Given the description of an element on the screen output the (x, y) to click on. 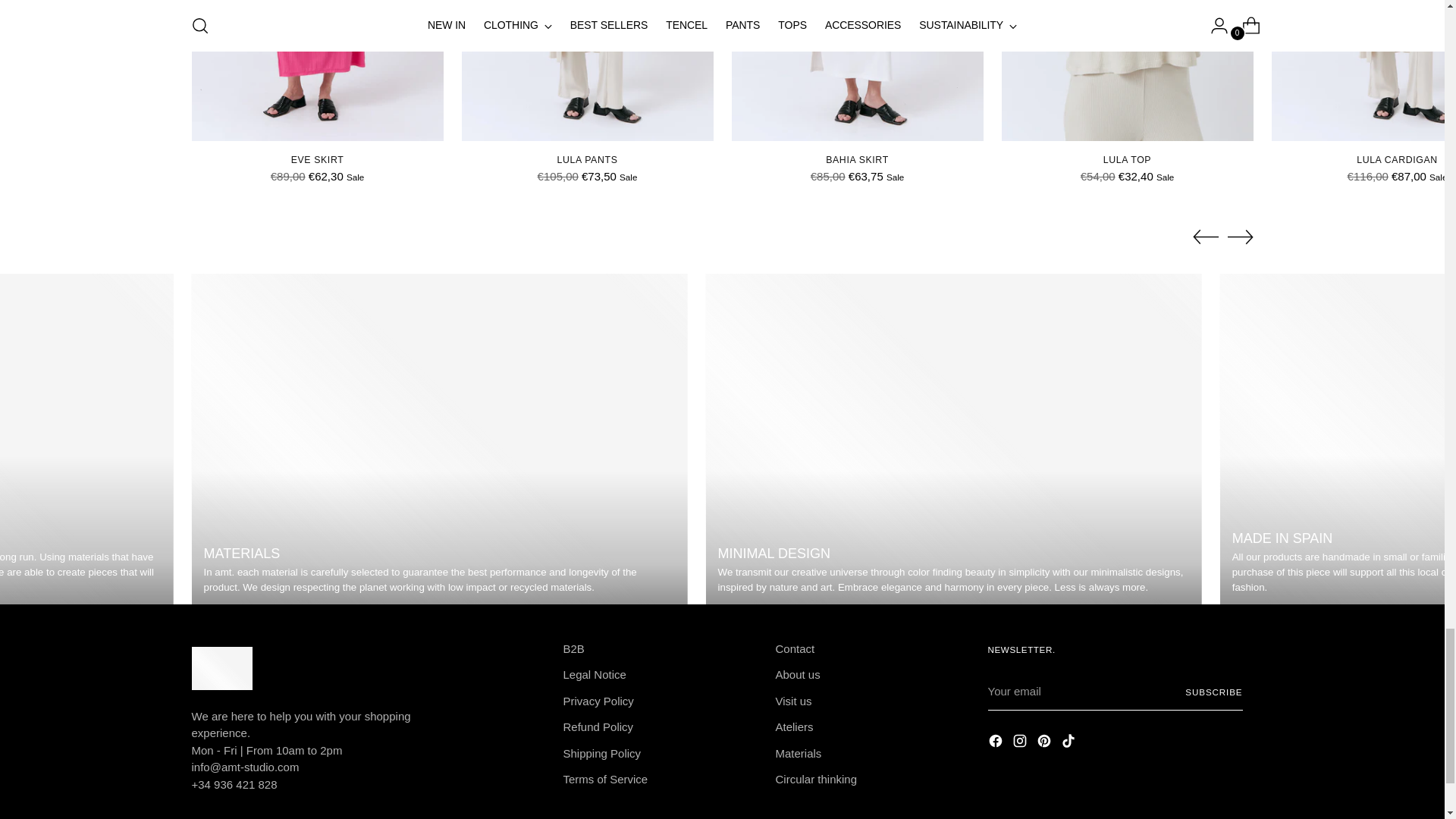
amt. studio on Facebook (996, 743)
amt. studio on Pinterest (1044, 743)
